Given the description of an element on the screen output the (x, y) to click on. 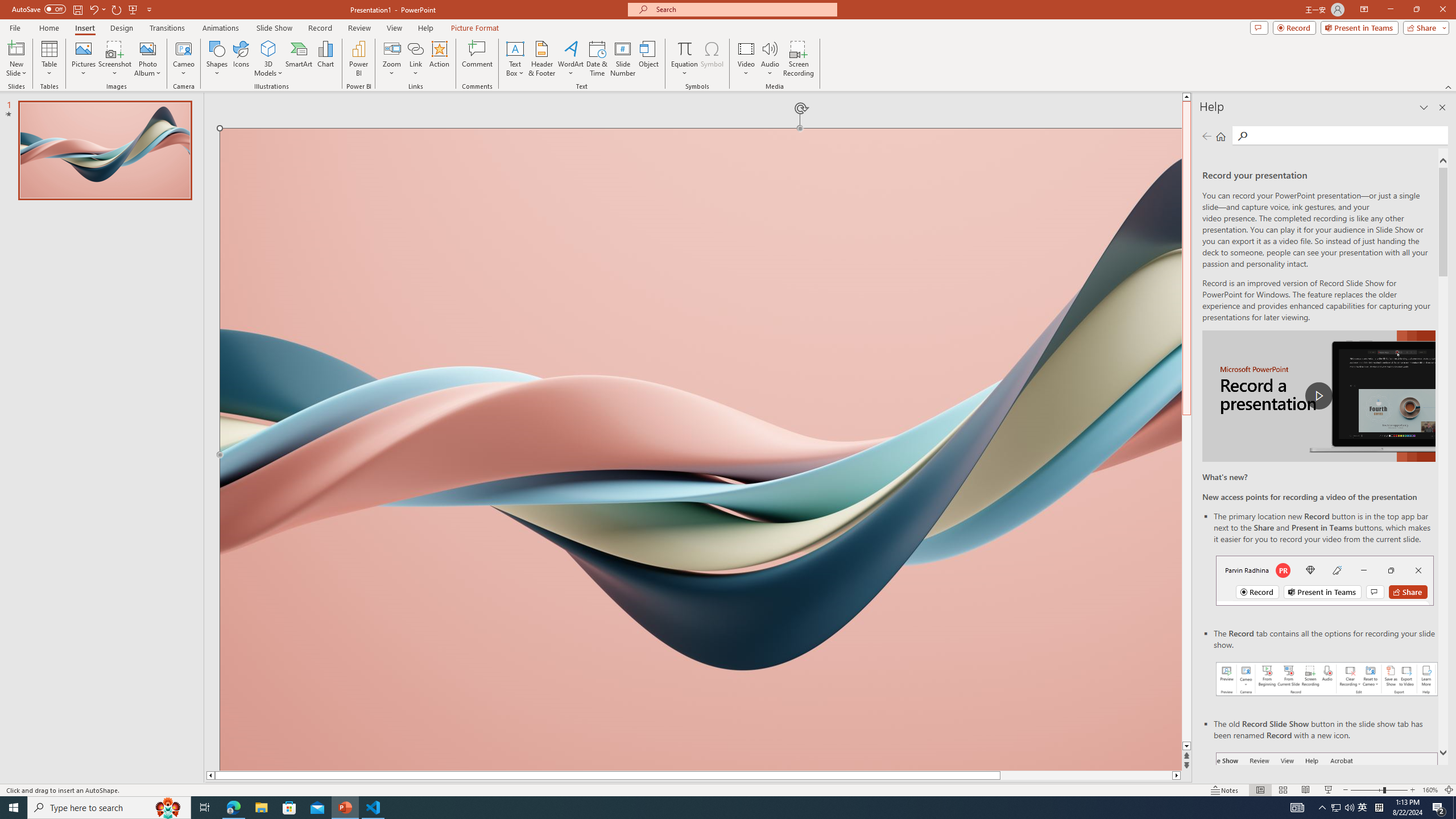
Link (415, 58)
Comment (476, 58)
Equation (683, 58)
